Given the description of an element on the screen output the (x, y) to click on. 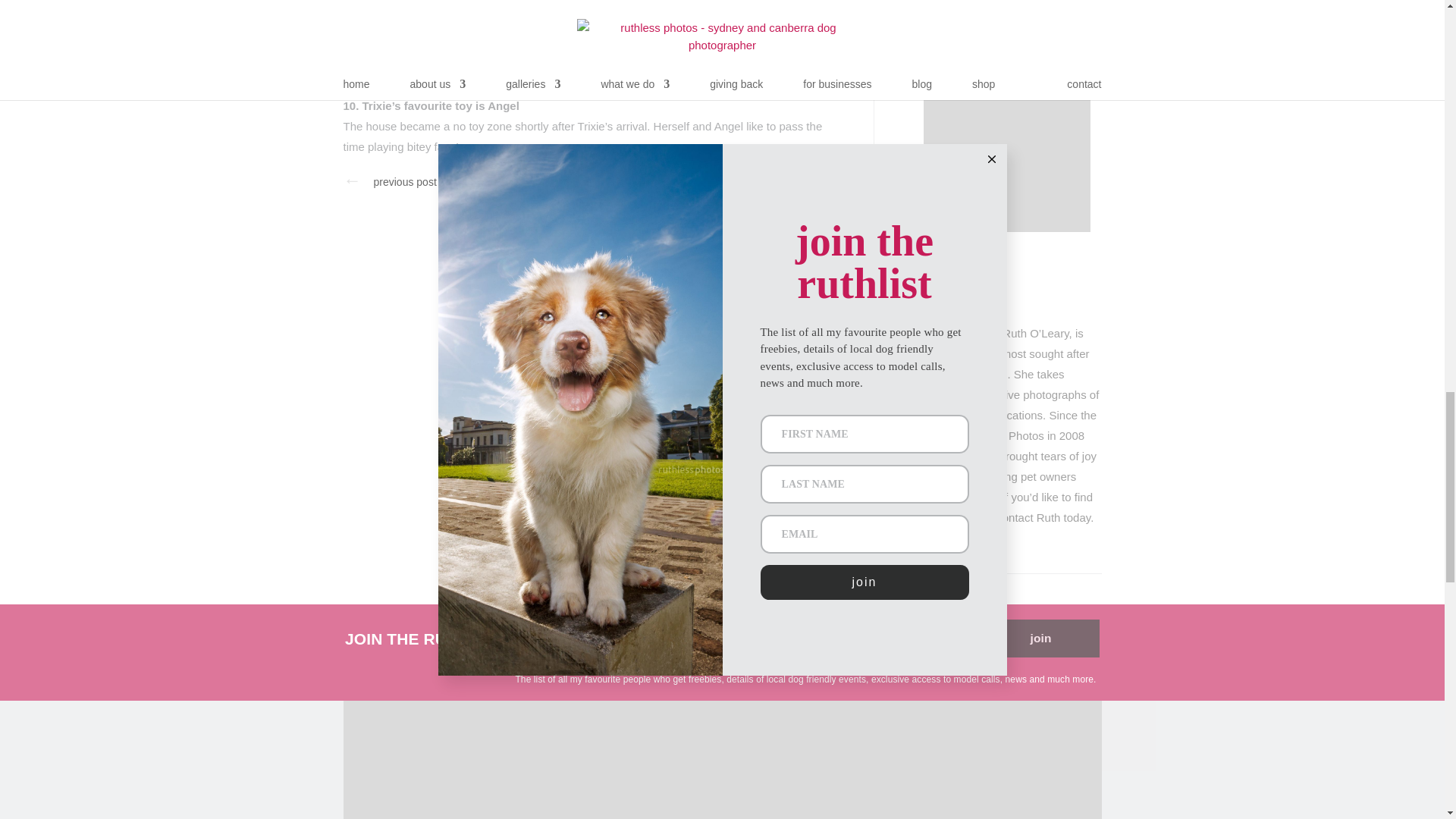
RPsite-logos (721, 760)
previous post (403, 182)
